Given the description of an element on the screen output the (x, y) to click on. 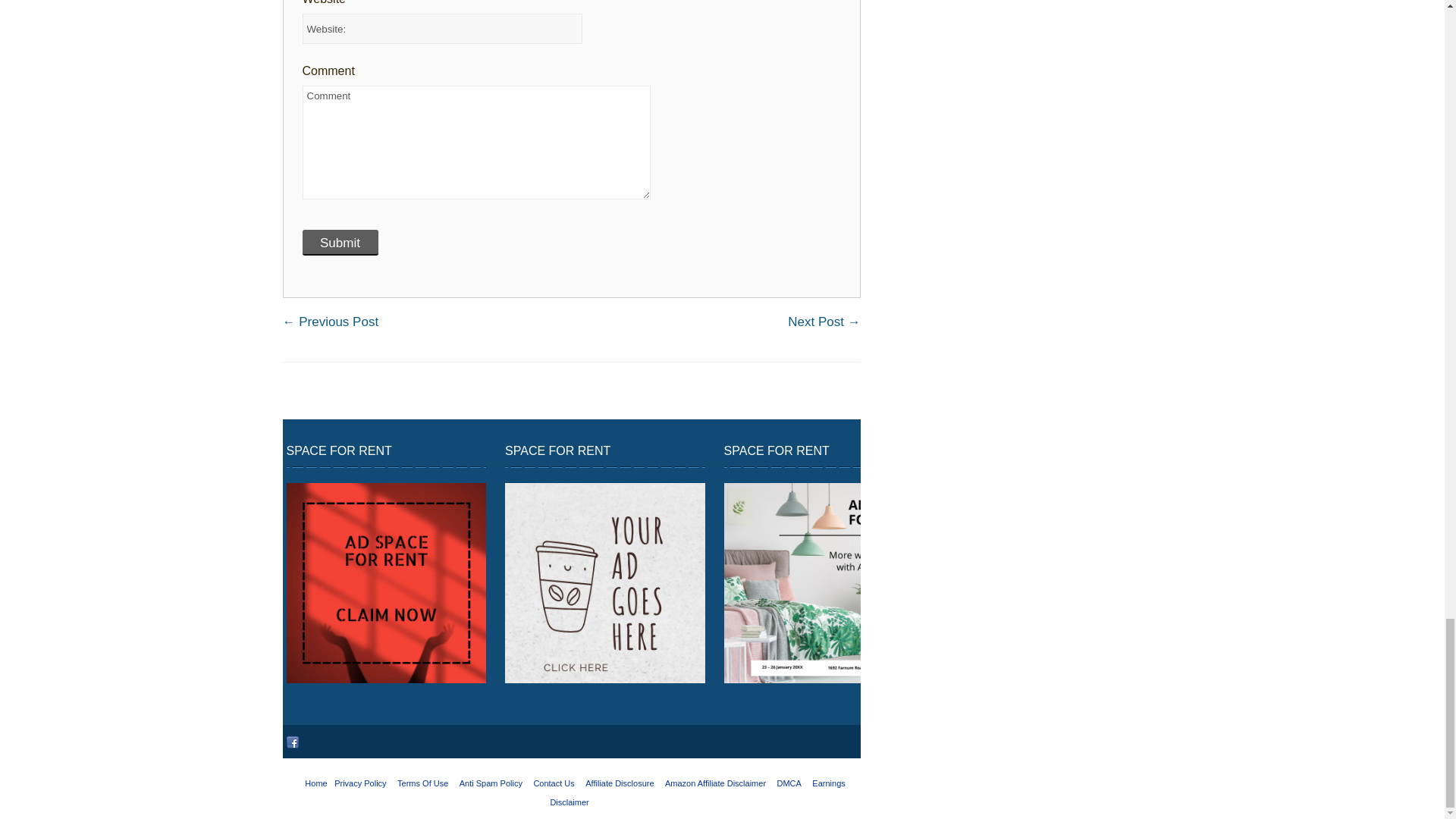
Home (315, 782)
Contact Us (552, 782)
Submit (339, 242)
Anti Spam Policy (491, 782)
Terms Of Use (422, 782)
Submit (339, 242)
Facebook (292, 742)
Privacy Policy (359, 782)
